Given the description of an element on the screen output the (x, y) to click on. 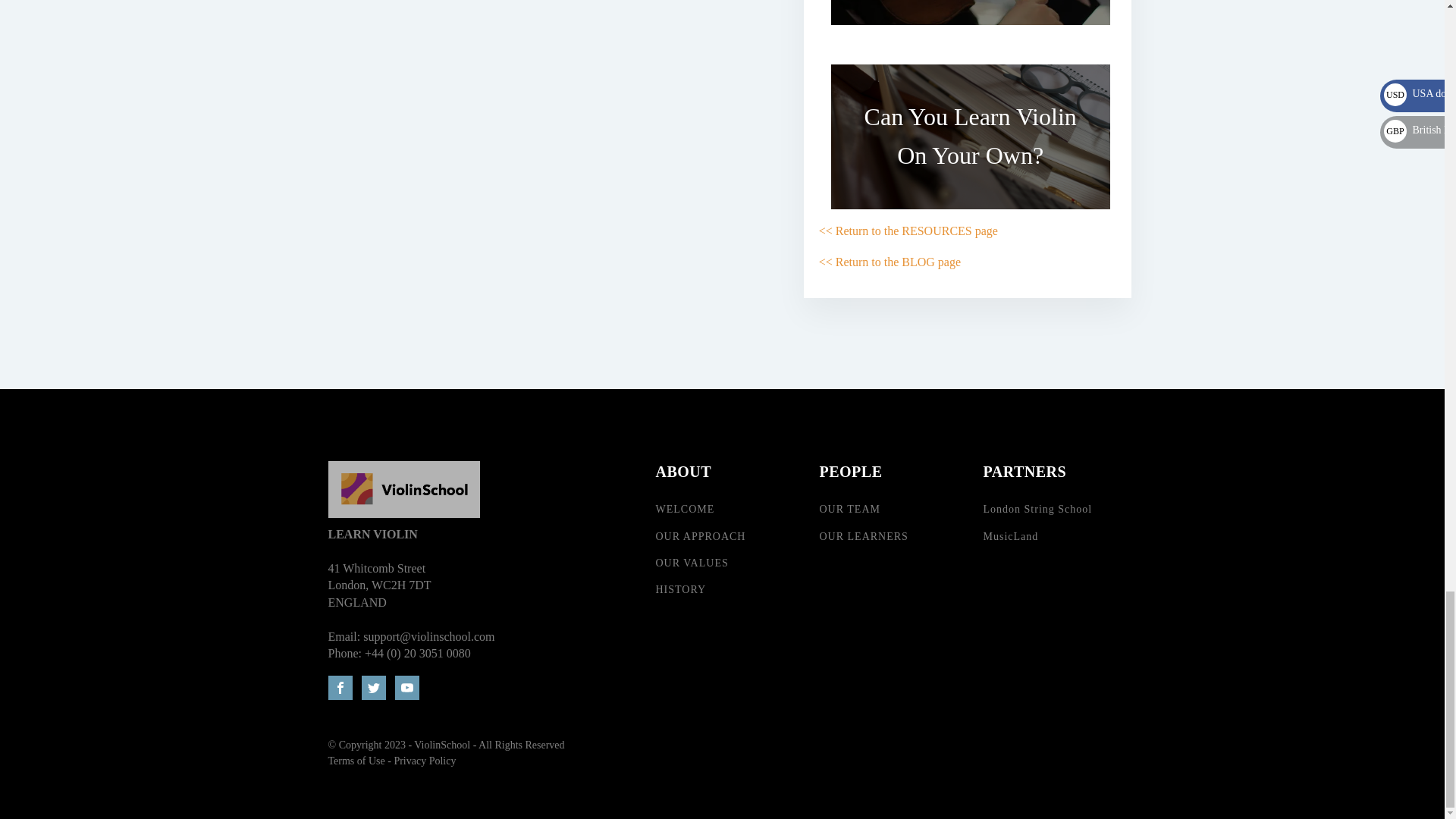
MusicLand (1010, 536)
Can You Learn Violin On Your Own? (970, 136)
Privacy Policy (424, 760)
London String School (1037, 509)
Violin Lessons in London with David Worswick (970, 18)
Terms of Use (355, 760)
OUR VALUES (691, 562)
WELCOME (684, 509)
OUR LEARNERS (862, 536)
OUR APPROACH (700, 536)
OUR TEAM (848, 509)
HISTORY (680, 589)
